Given the description of an element on the screen output the (x, y) to click on. 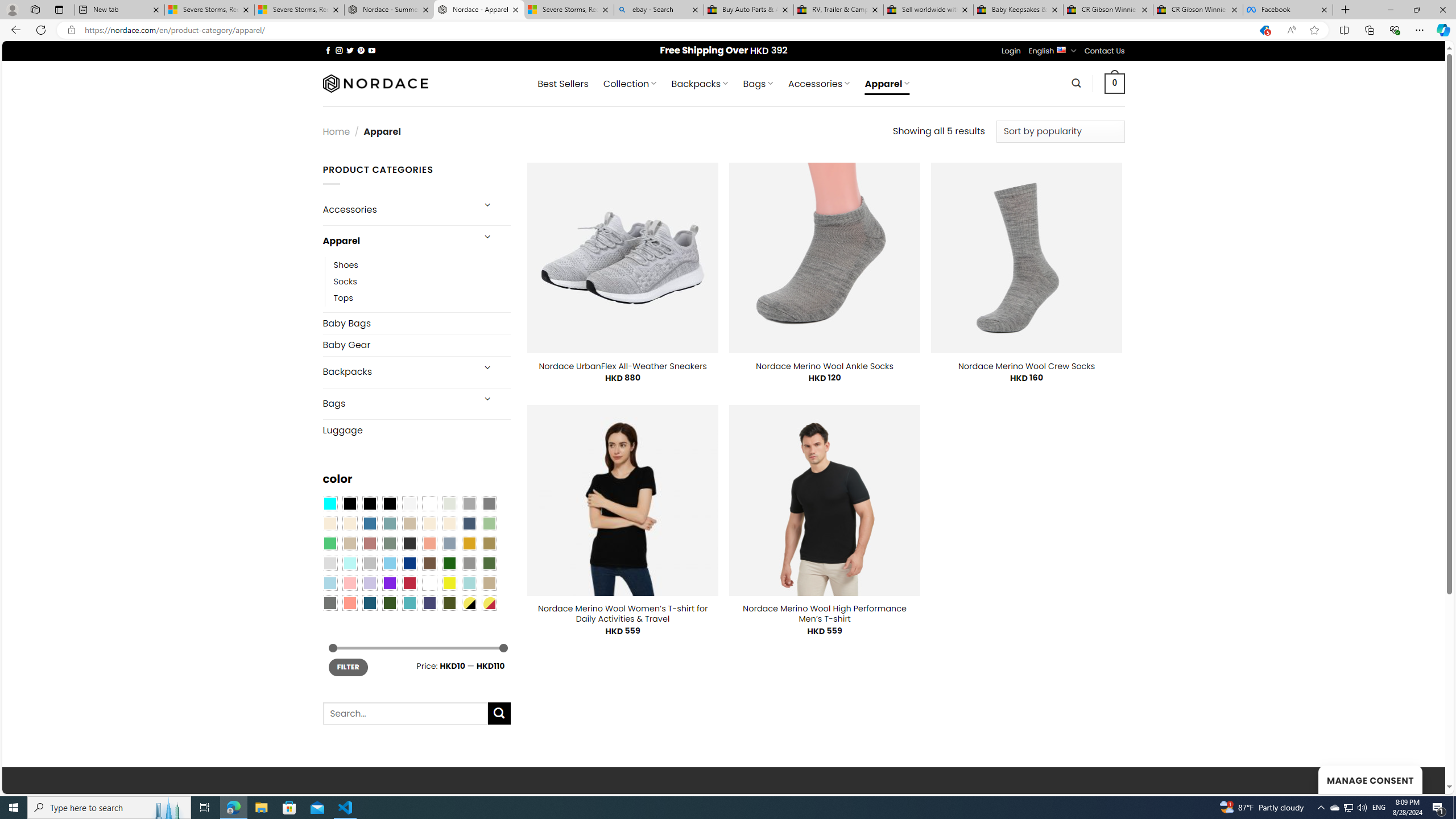
Aqua Blue (329, 503)
Charcoal (408, 542)
Cream (449, 522)
Socks (422, 280)
White (429, 582)
  Best Sellers (562, 83)
Yellow-Red (488, 602)
Backpacks (397, 372)
Light Green (488, 522)
